Given the description of an element on the screen output the (x, y) to click on. 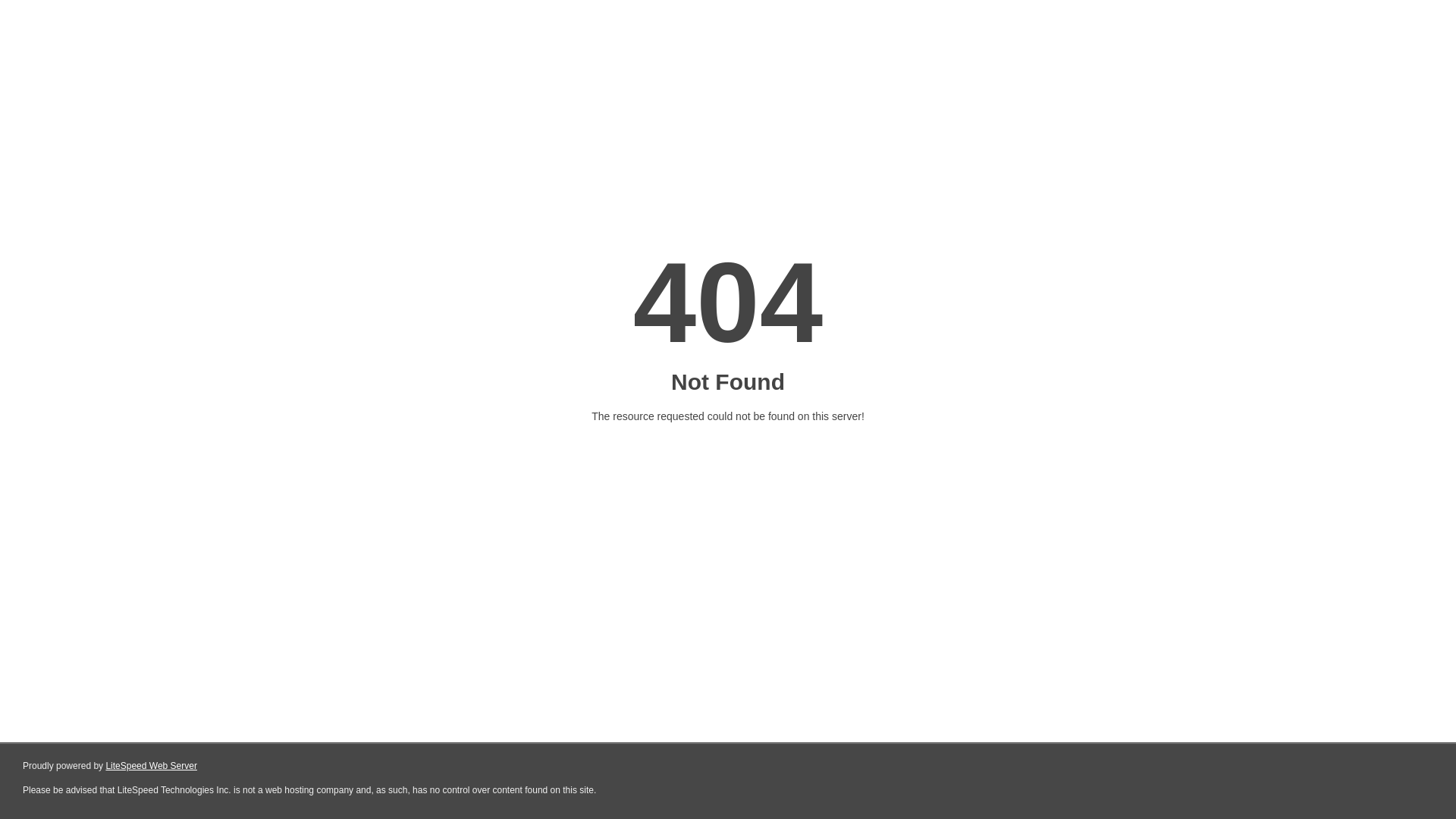
LiteSpeed Web Server Element type: text (151, 765)
